Given the description of an element on the screen output the (x, y) to click on. 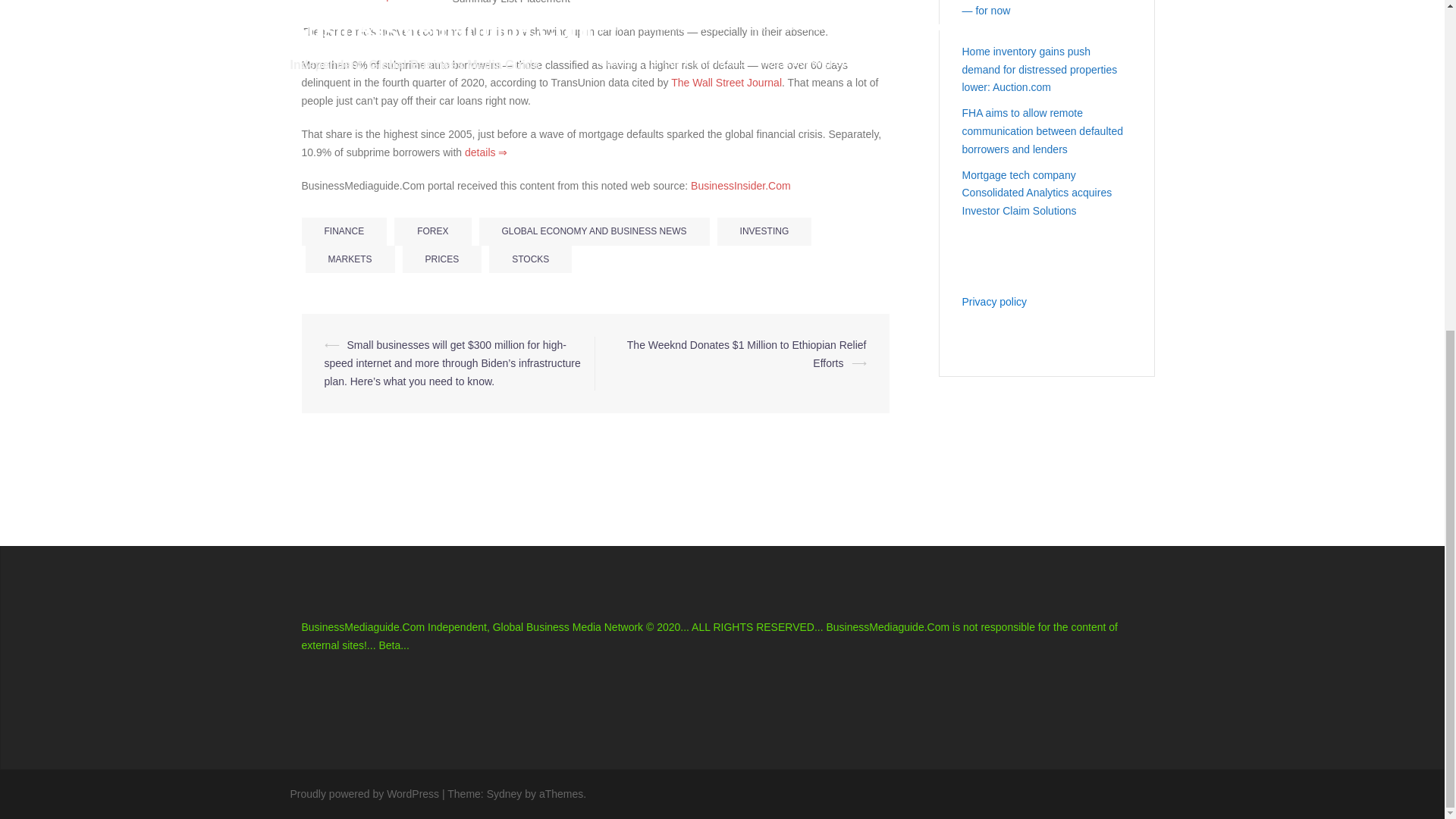
FINANCE (344, 230)
STOCKS (530, 258)
FOREX (432, 230)
Advertisement (478, 279)
MARKETS (349, 258)
INVESTING (764, 230)
GLOBAL ECONOMY AND BUSINESS NEWS (594, 230)
PRICES (442, 258)
BusinessInsider.Com (740, 185)
The Wall Street Journal (726, 82)
